Given the description of an element on the screen output the (x, y) to click on. 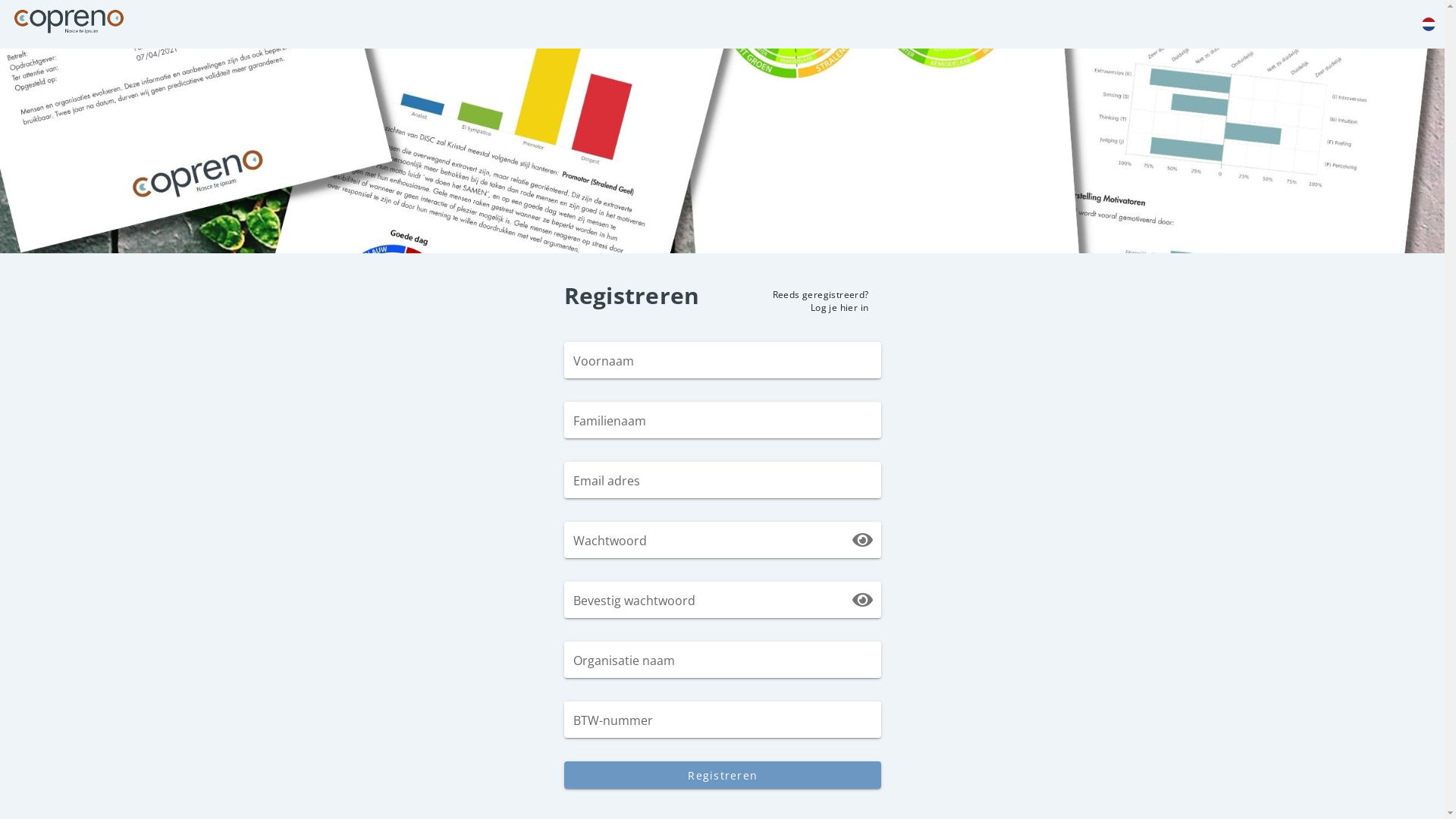
Reeds geregistreerd?
Log je hier in Element type: text (819, 300)
nl Element type: hover (1428, 24)
Reeds geregistreerd?
Log je hier in Element type: text (819, 298)
Registreren Element type: text (722, 774)
